Given the description of an element on the screen output the (x, y) to click on. 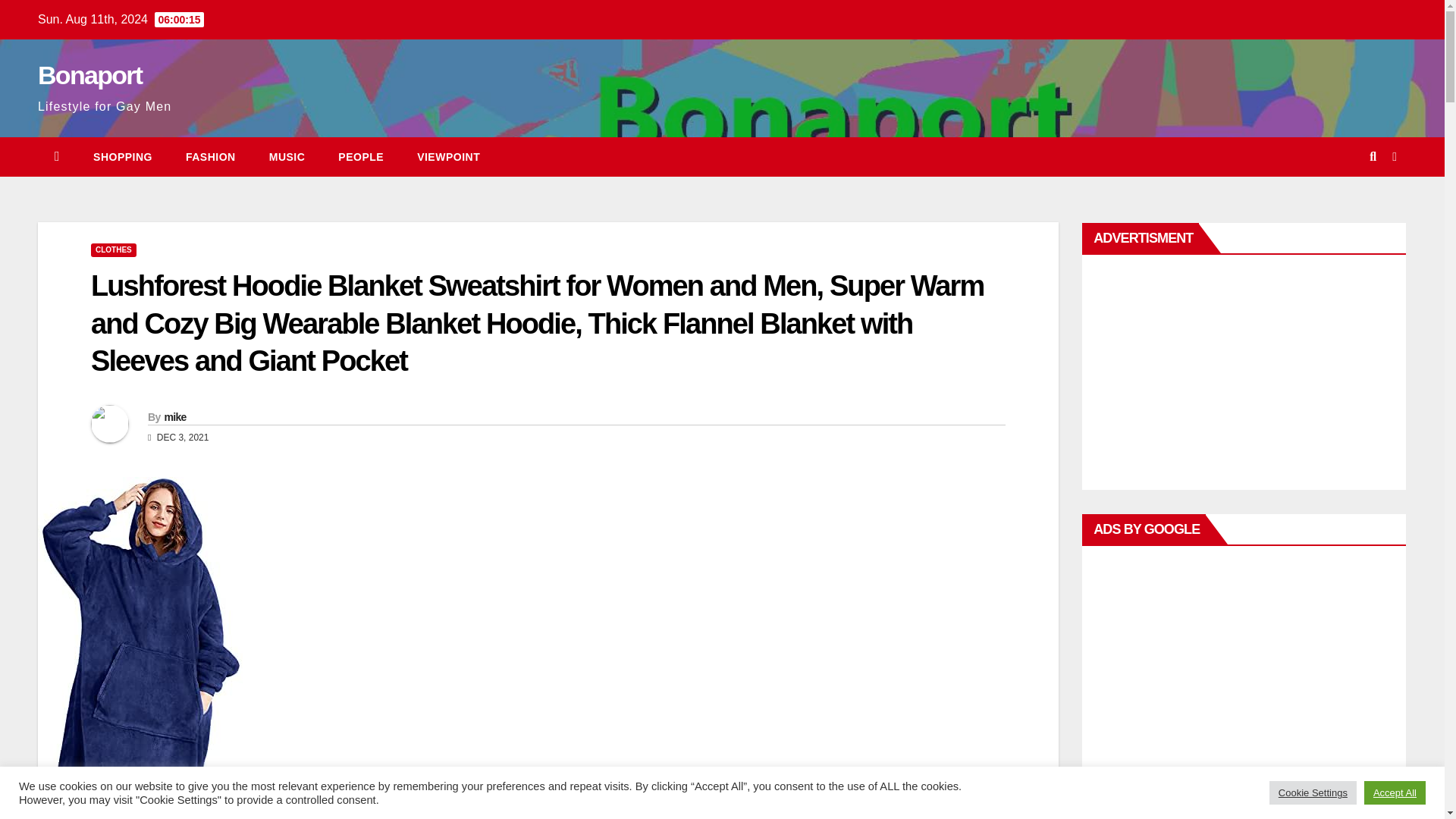
VIEWPOINT (448, 156)
Music (286, 156)
FASHION (209, 156)
Viewpoint (448, 156)
Bonaport (89, 74)
mike (174, 417)
SHOPPING (122, 156)
Shopping (122, 156)
